Given the description of an element on the screen output the (x, y) to click on. 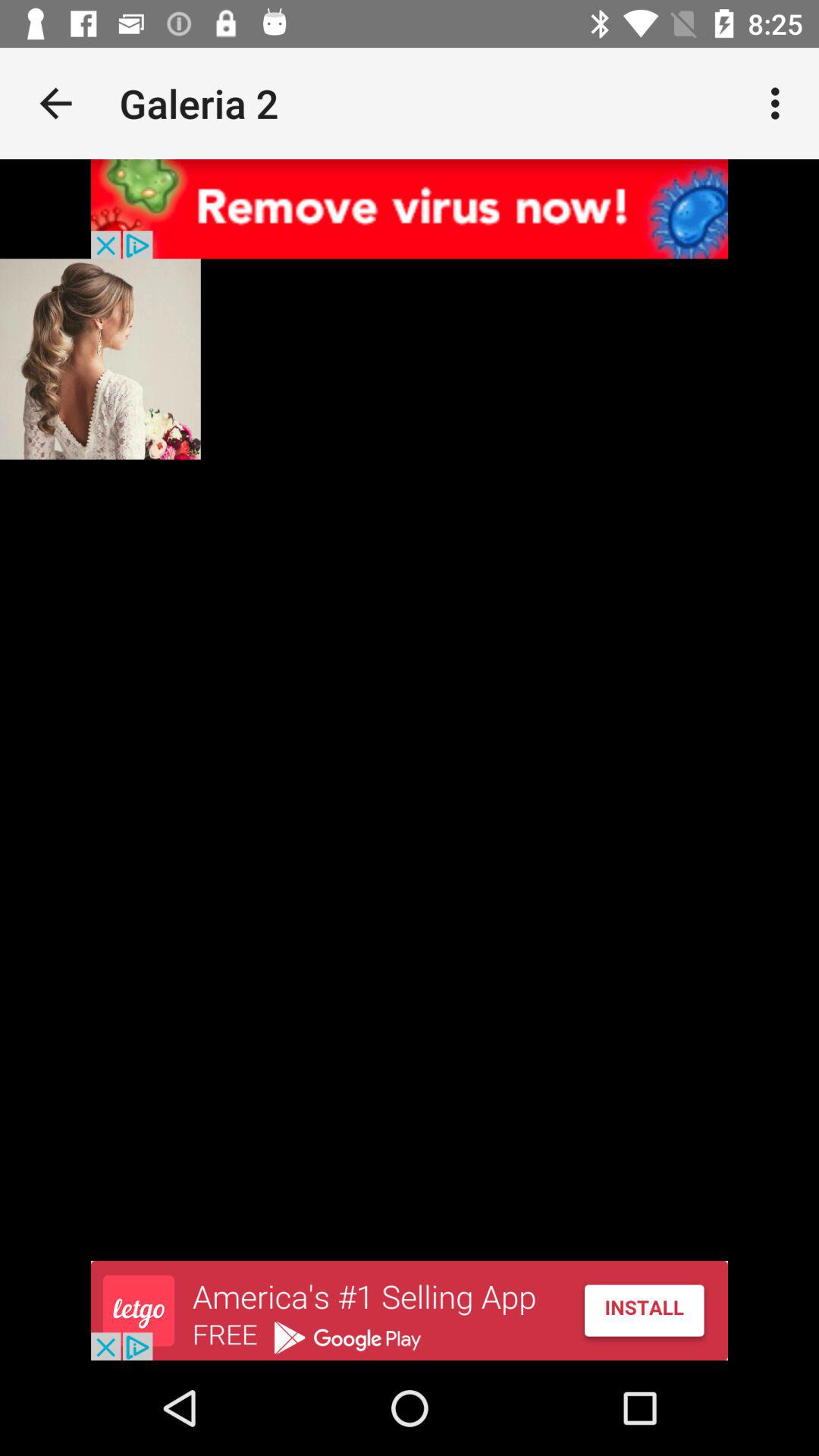
advertisement (409, 1310)
